Given the description of an element on the screen output the (x, y) to click on. 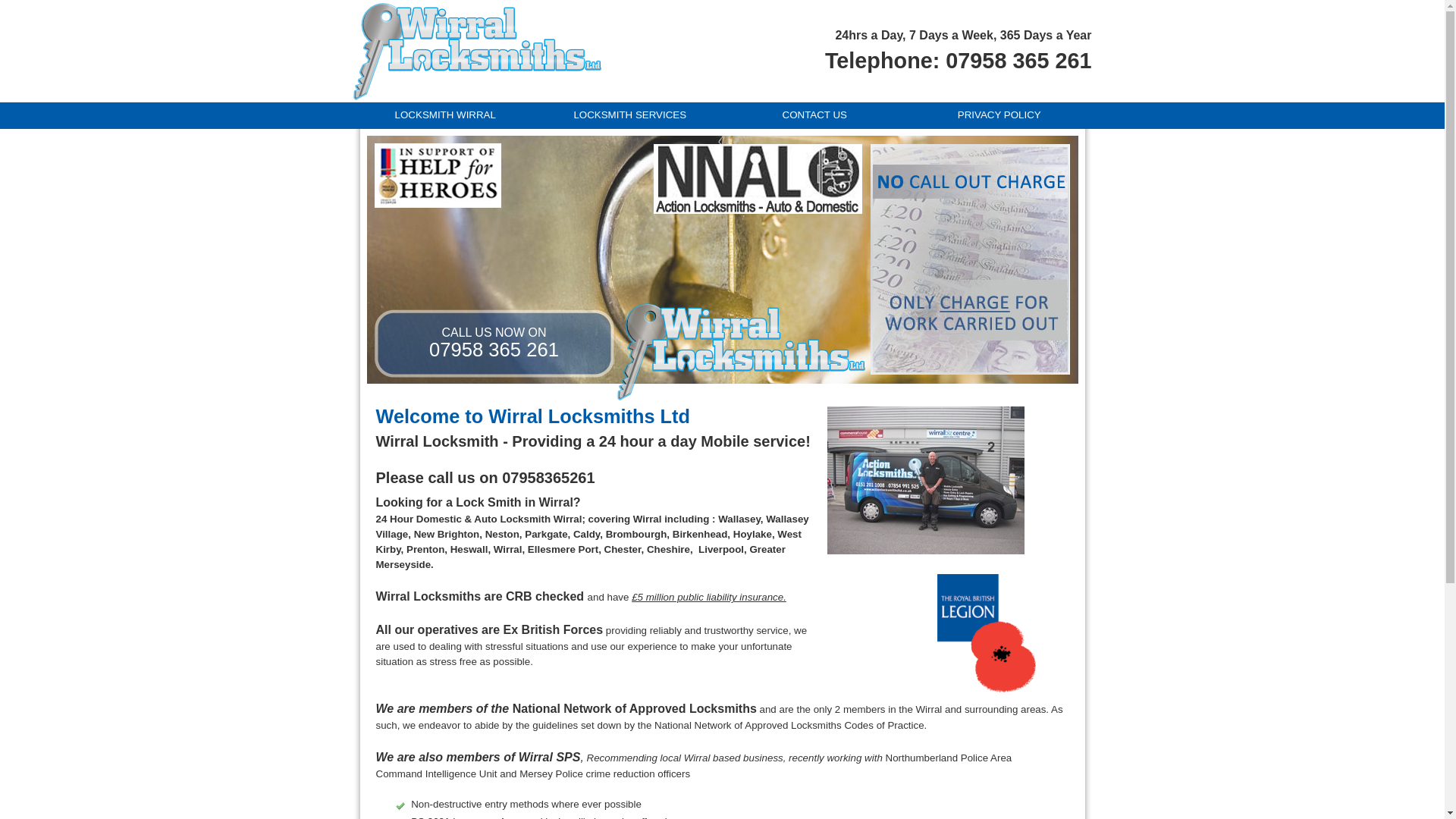
PRIVACY POLICY (999, 114)
National Network of Approved Locksmiths (634, 707)
LOCKSMITH WIRRAL (445, 114)
LOCKSMITH SERVICES (629, 114)
CONTACT US (814, 114)
